Given the description of an element on the screen output the (x, y) to click on. 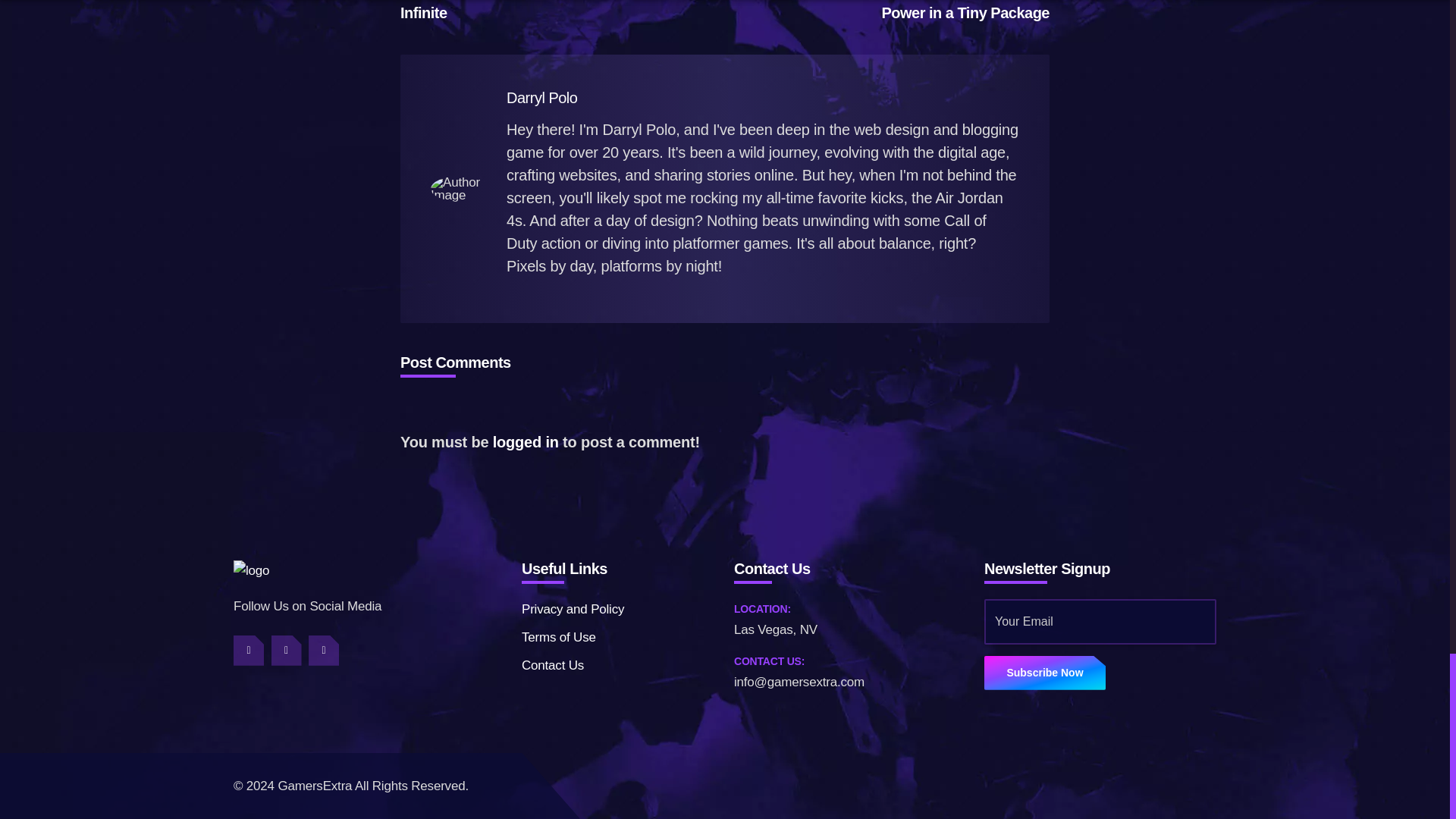
Privacy and Policy (572, 608)
logged in (526, 442)
Terms of Use (553, 10)
Contact Us (558, 636)
